Given the description of an element on the screen output the (x, y) to click on. 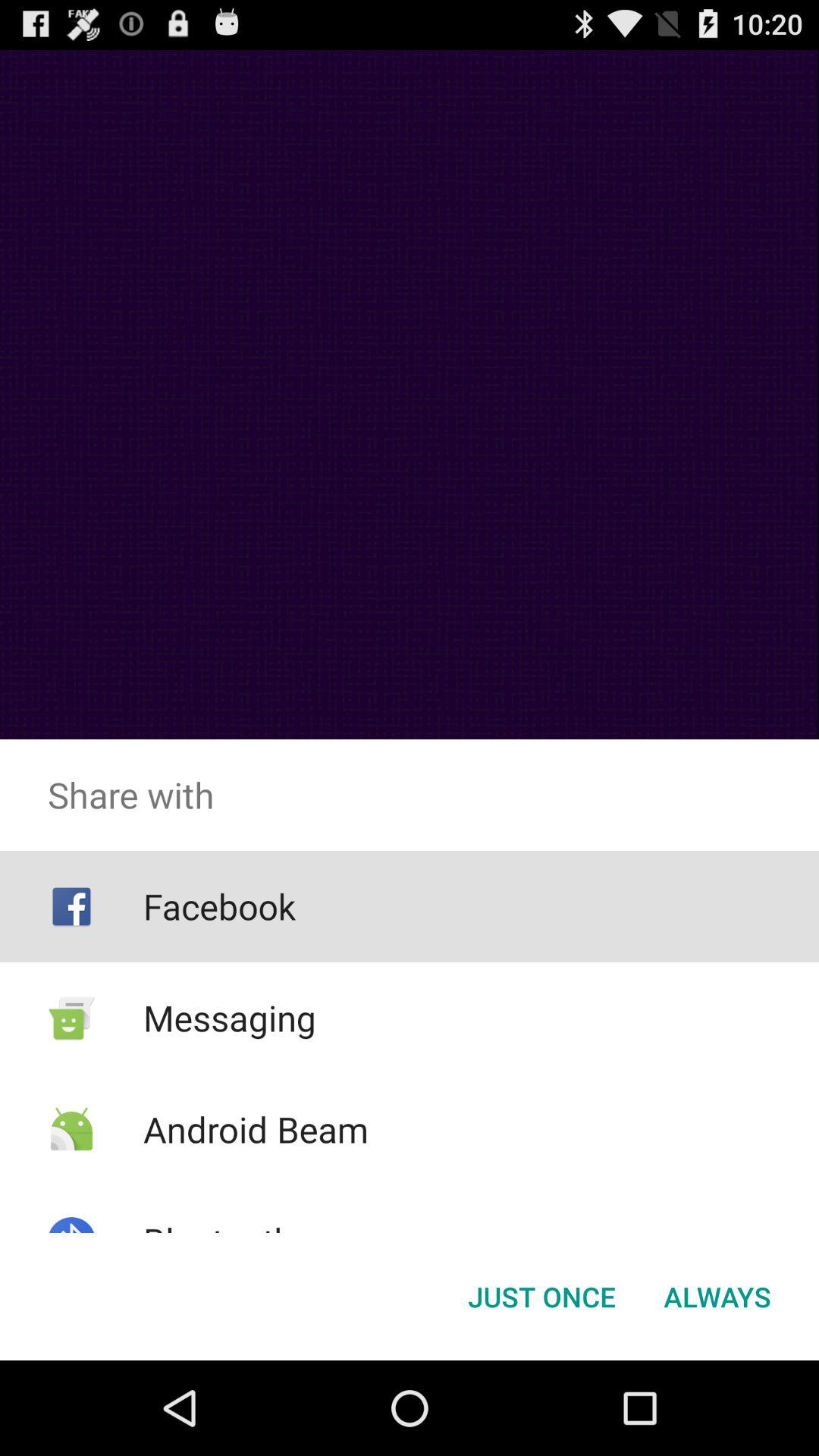
tap messaging (229, 1017)
